Given the description of an element on the screen output the (x, y) to click on. 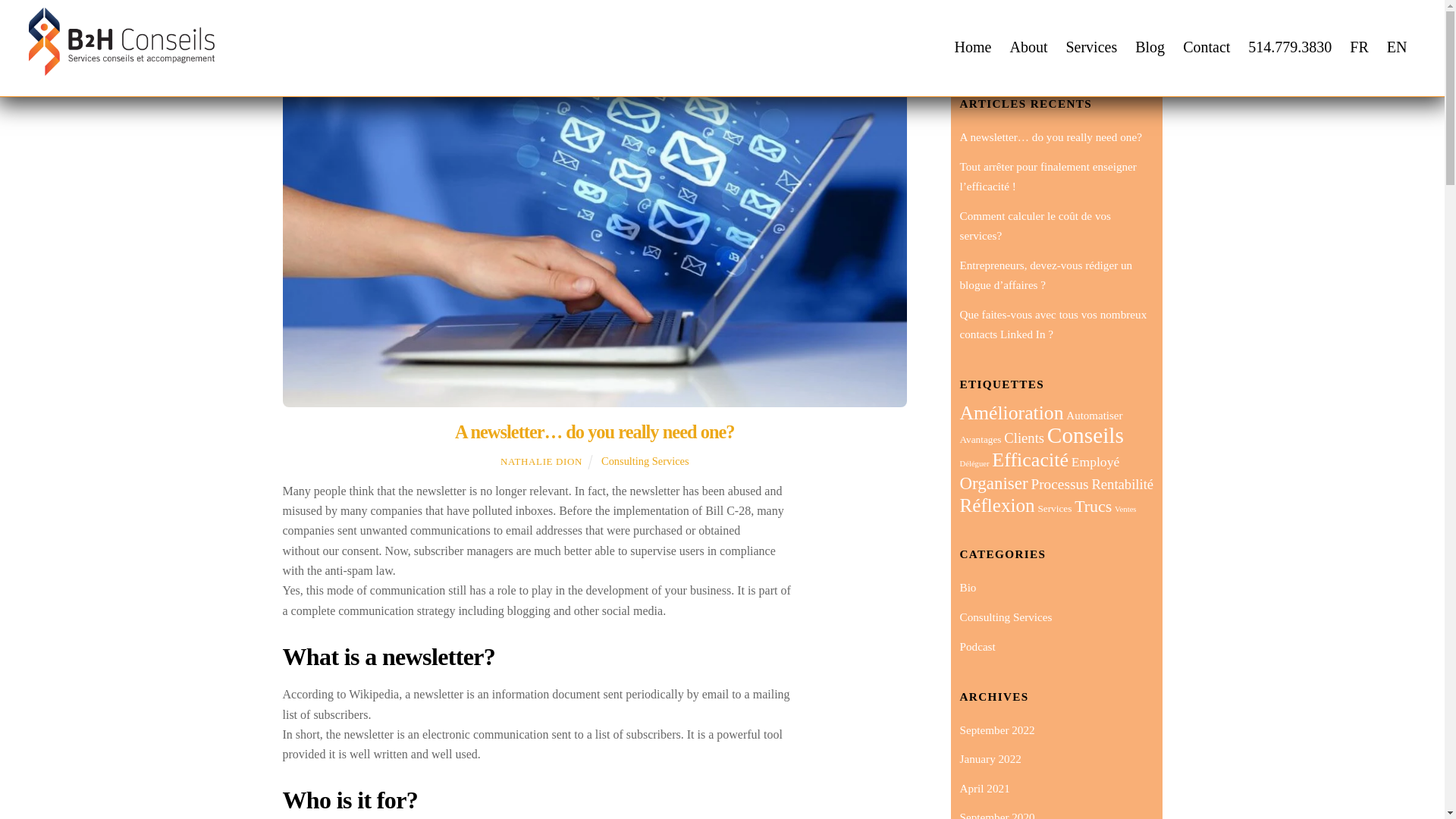
About (1028, 46)
Automatiser (1093, 415)
Avantages (980, 439)
EN (1396, 46)
NATHALIE DION (541, 460)
Que faites-vous avec tous vos nombreux contacts Linked In ? (1053, 323)
Services (1091, 46)
FR (722, 35)
FR (1358, 46)
Consulting Services (1358, 46)
514.779.3830 (644, 460)
Contact (1289, 46)
Home (1206, 46)
